Given the description of an element on the screen output the (x, y) to click on. 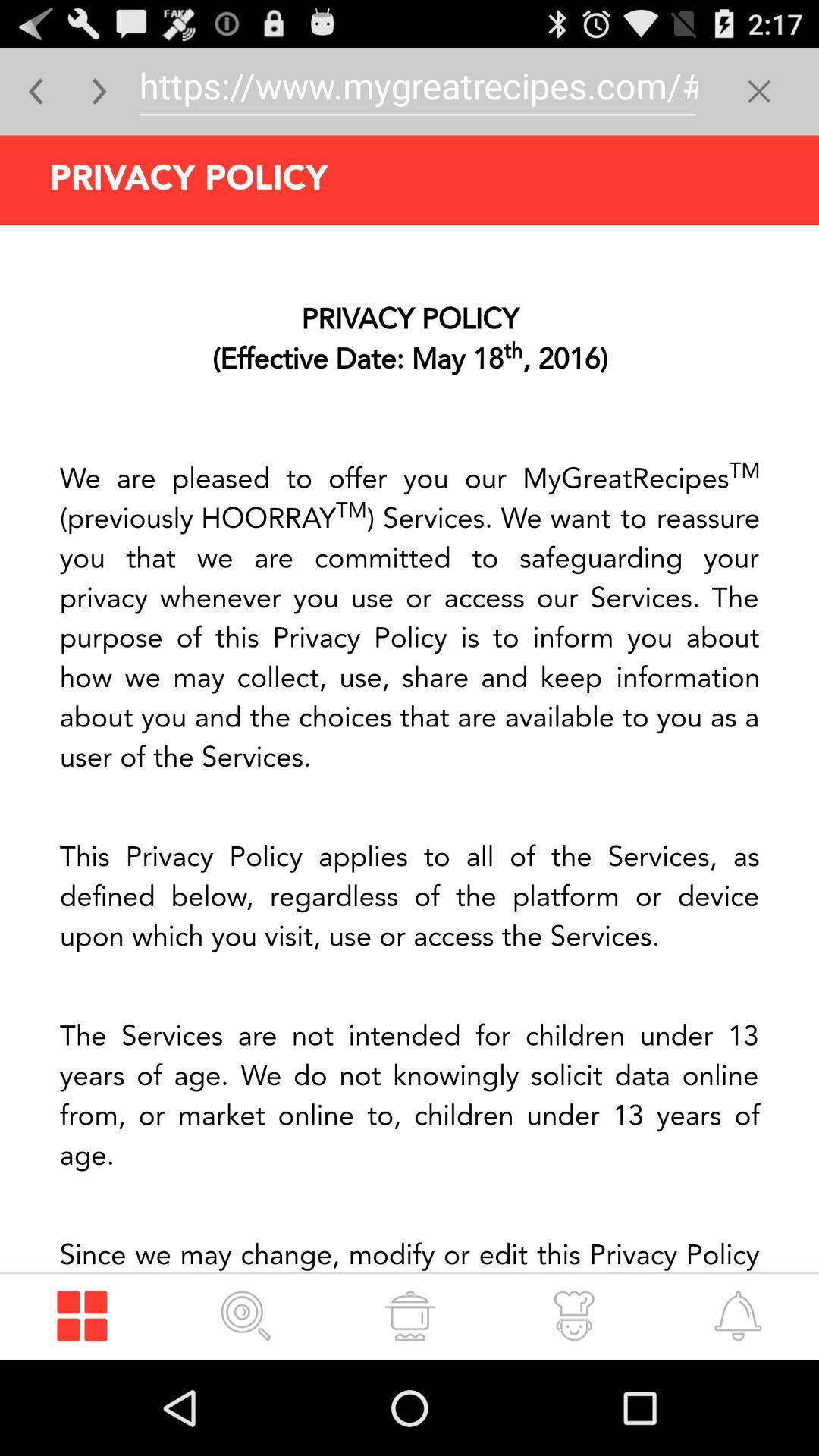
cut option (759, 91)
